Given the description of an element on the screen output the (x, y) to click on. 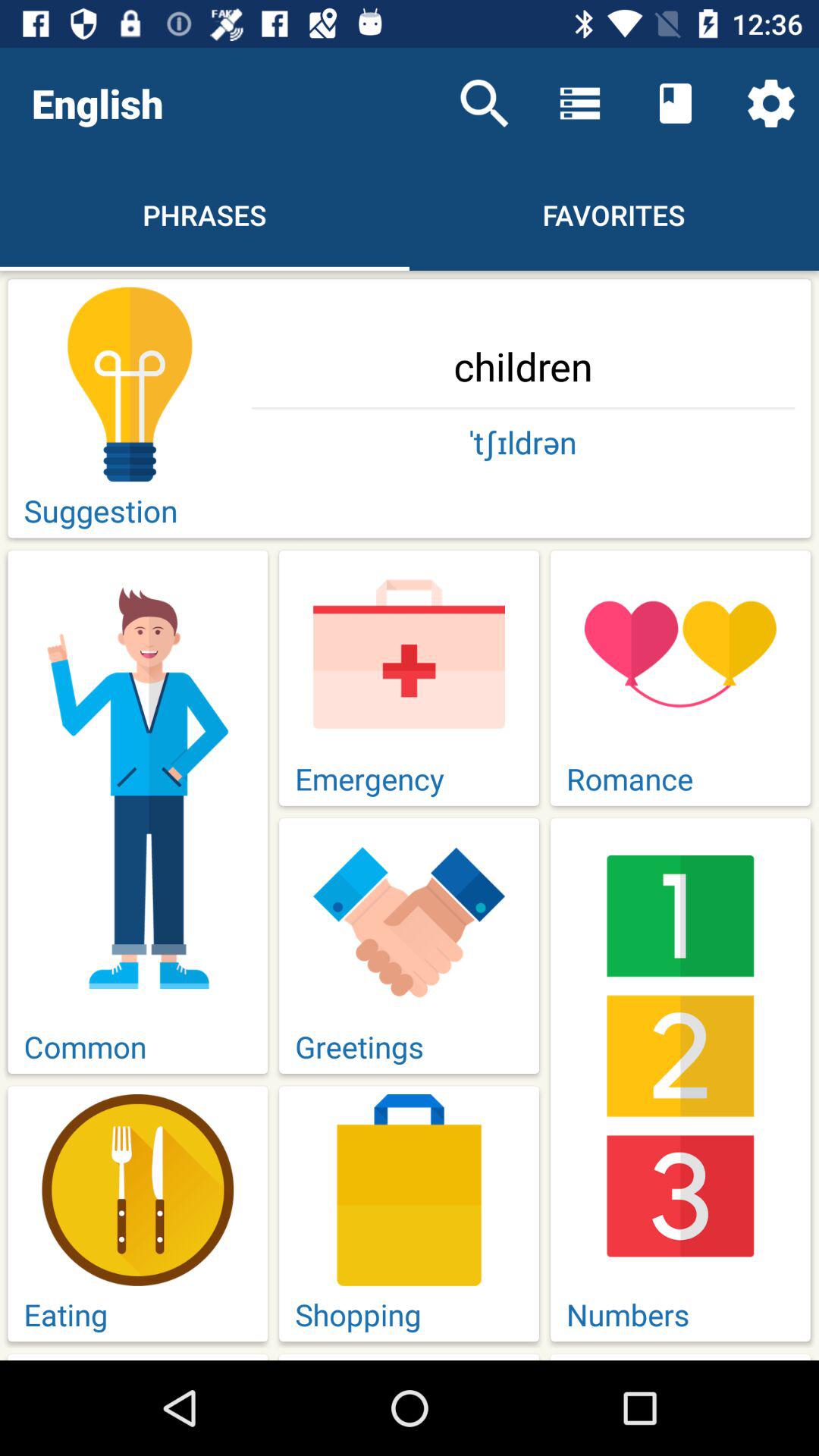
click the item above the children item (484, 103)
